Given the description of an element on the screen output the (x, y) to click on. 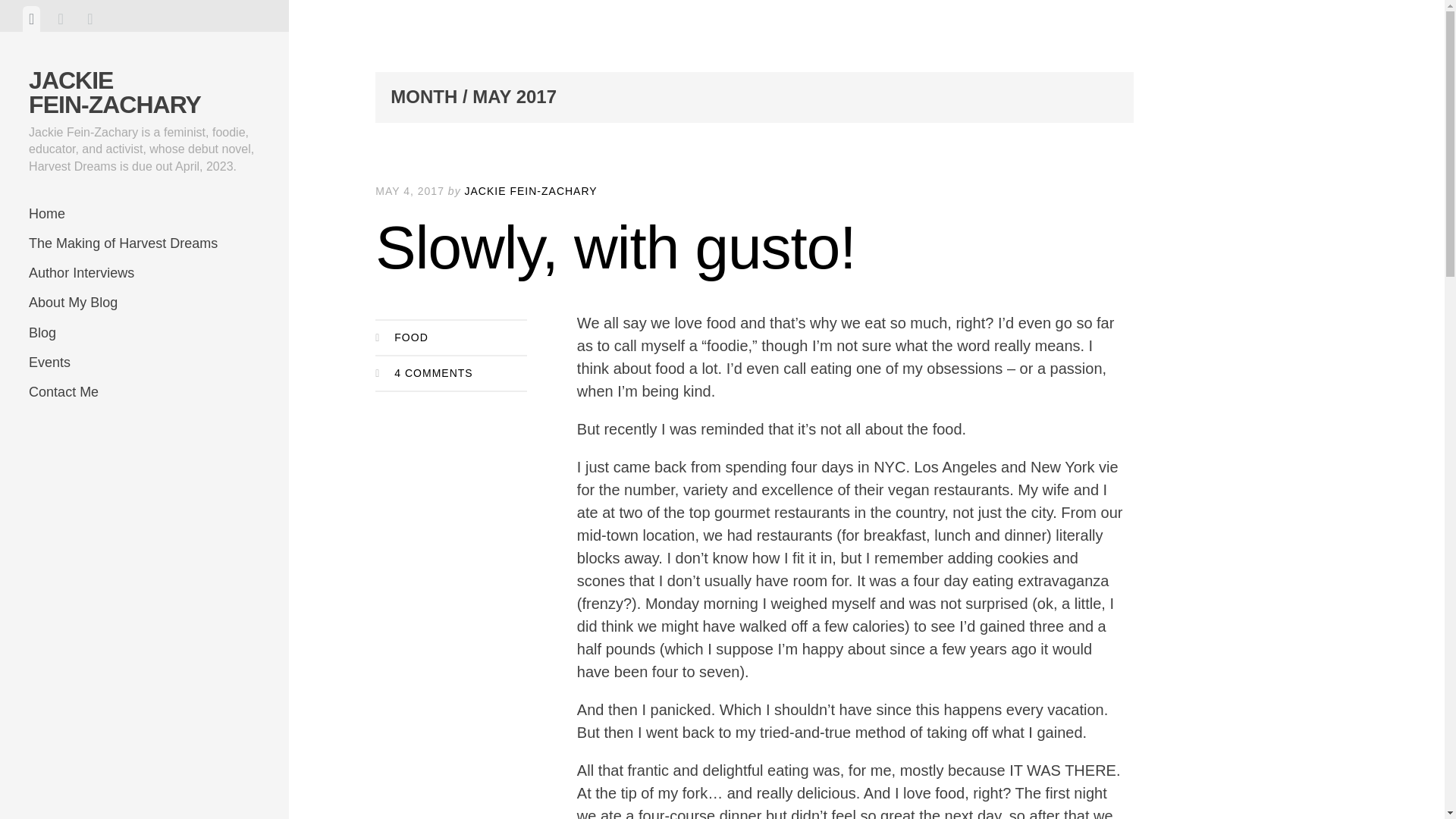
About My Blog (144, 302)
Home (144, 214)
Contact Me (144, 392)
Events (144, 362)
Author Interviews (144, 273)
The Making of Harvest Dreams (144, 243)
Blog (144, 333)
